Given the description of an element on the screen output the (x, y) to click on. 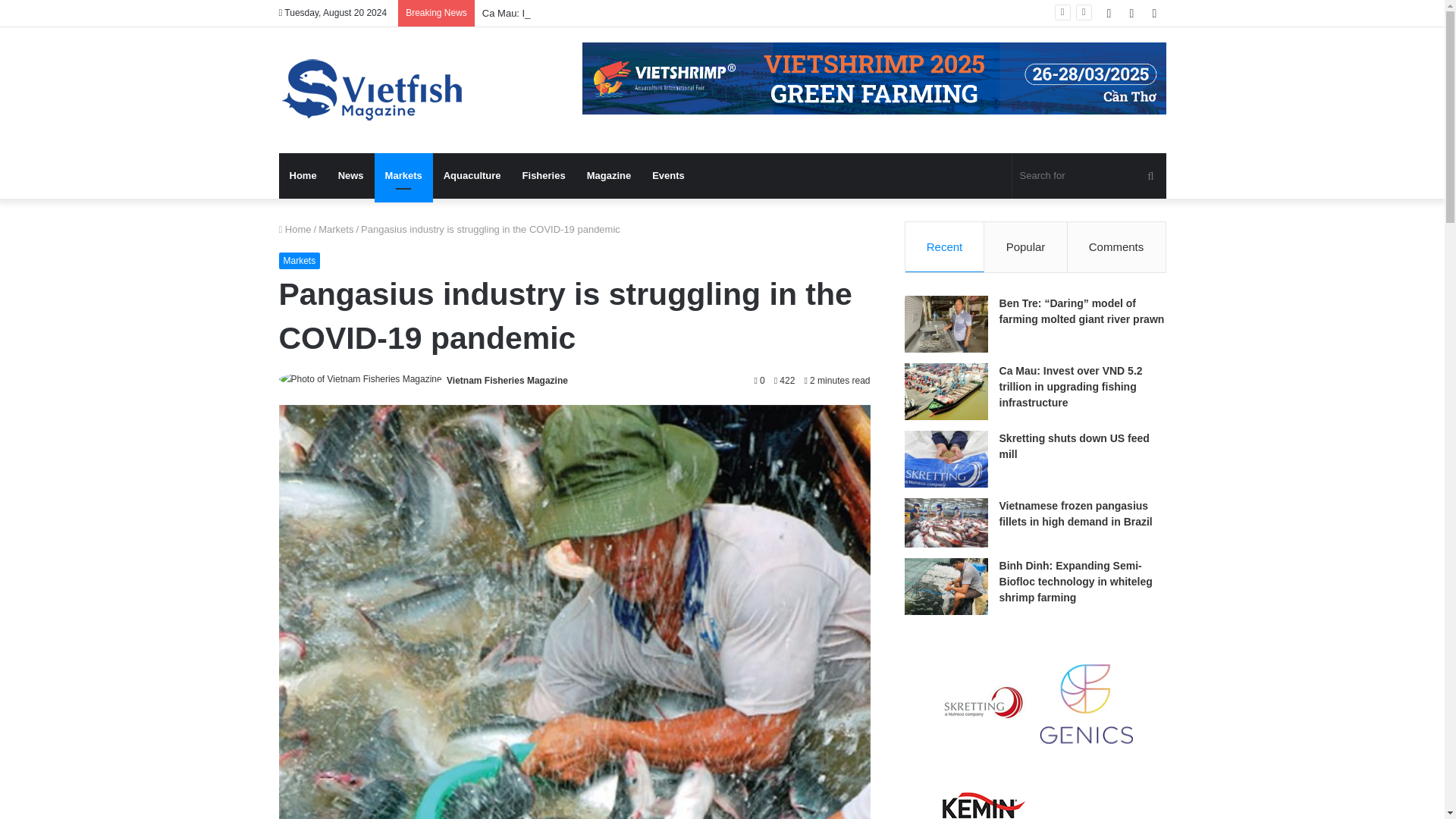
Home (303, 176)
Markets (299, 260)
Magazine (609, 176)
News (350, 176)
Aquaculture (472, 176)
Vietnam Fisheries Magazine (506, 380)
Vietnam Fisheries Magazine (373, 89)
Markets (403, 176)
Events (668, 176)
